Given the description of an element on the screen output the (x, y) to click on. 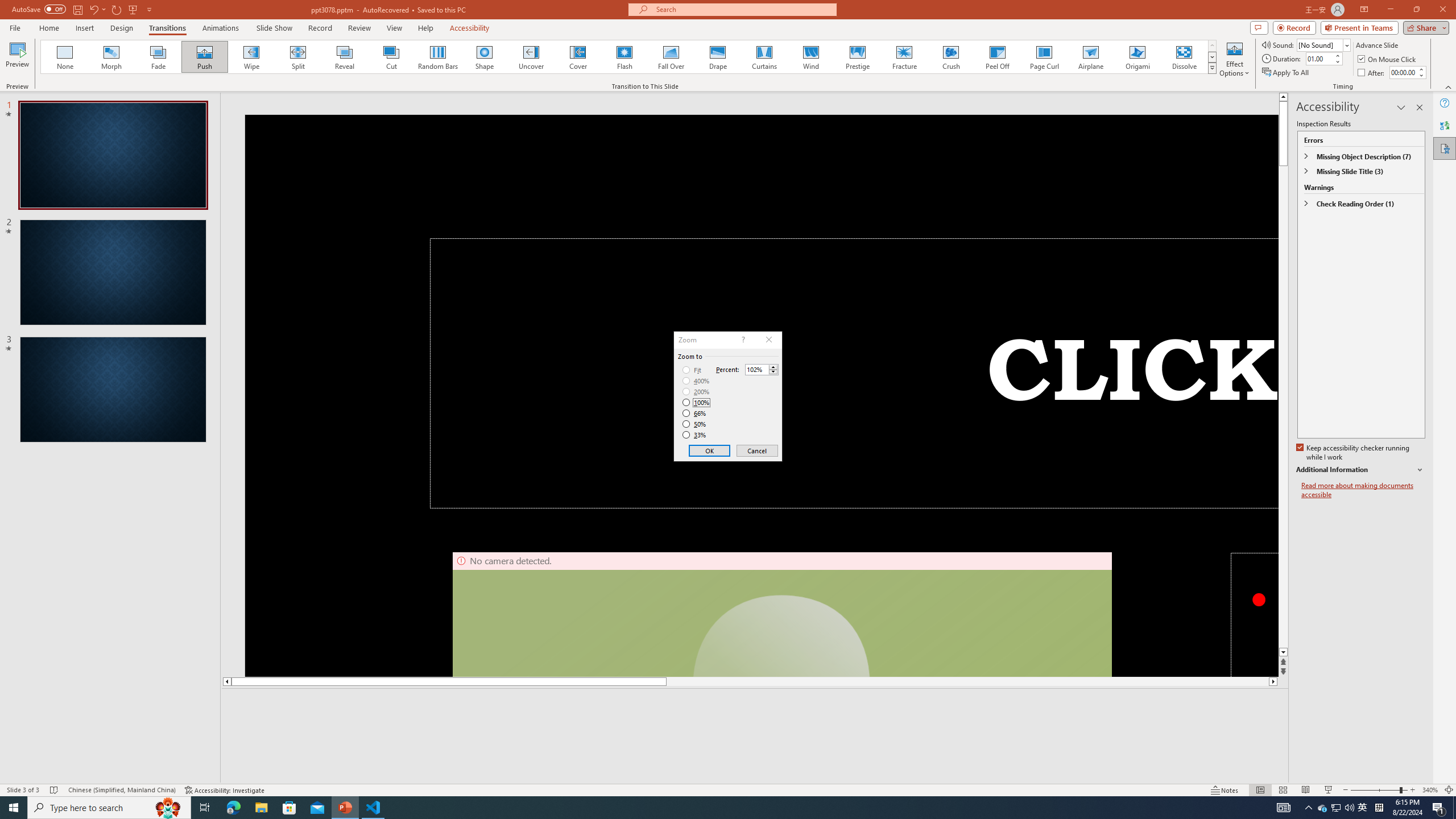
Less (772, 372)
